Given the description of an element on the screen output the (x, y) to click on. 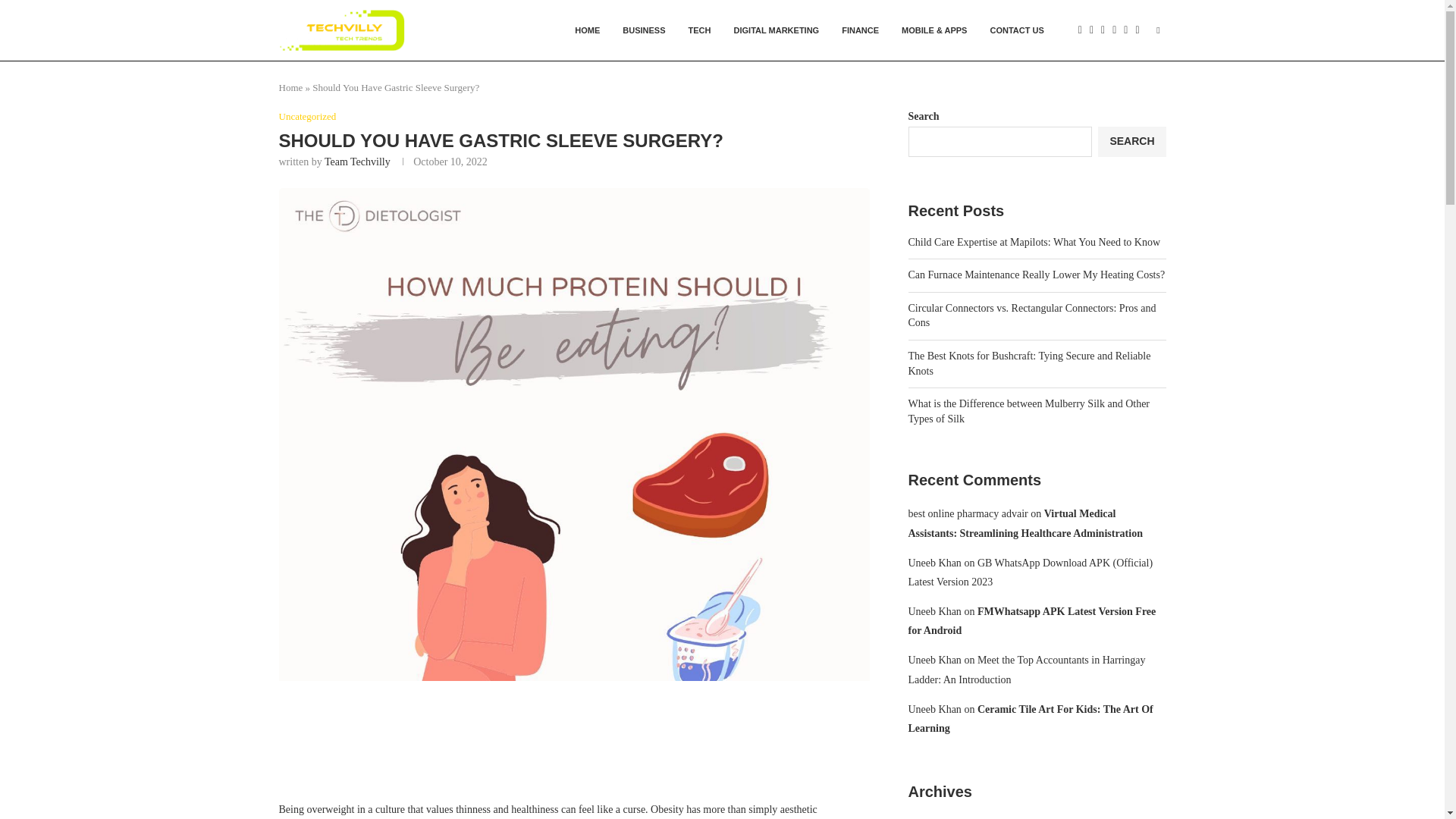
CONTACT US (1016, 30)
Uncategorized (307, 116)
Team Techvilly (357, 161)
BUSINESS (644, 30)
DIGITAL MARKETING (776, 30)
FINANCE (859, 30)
Home (290, 87)
